Given the description of an element on the screen output the (x, y) to click on. 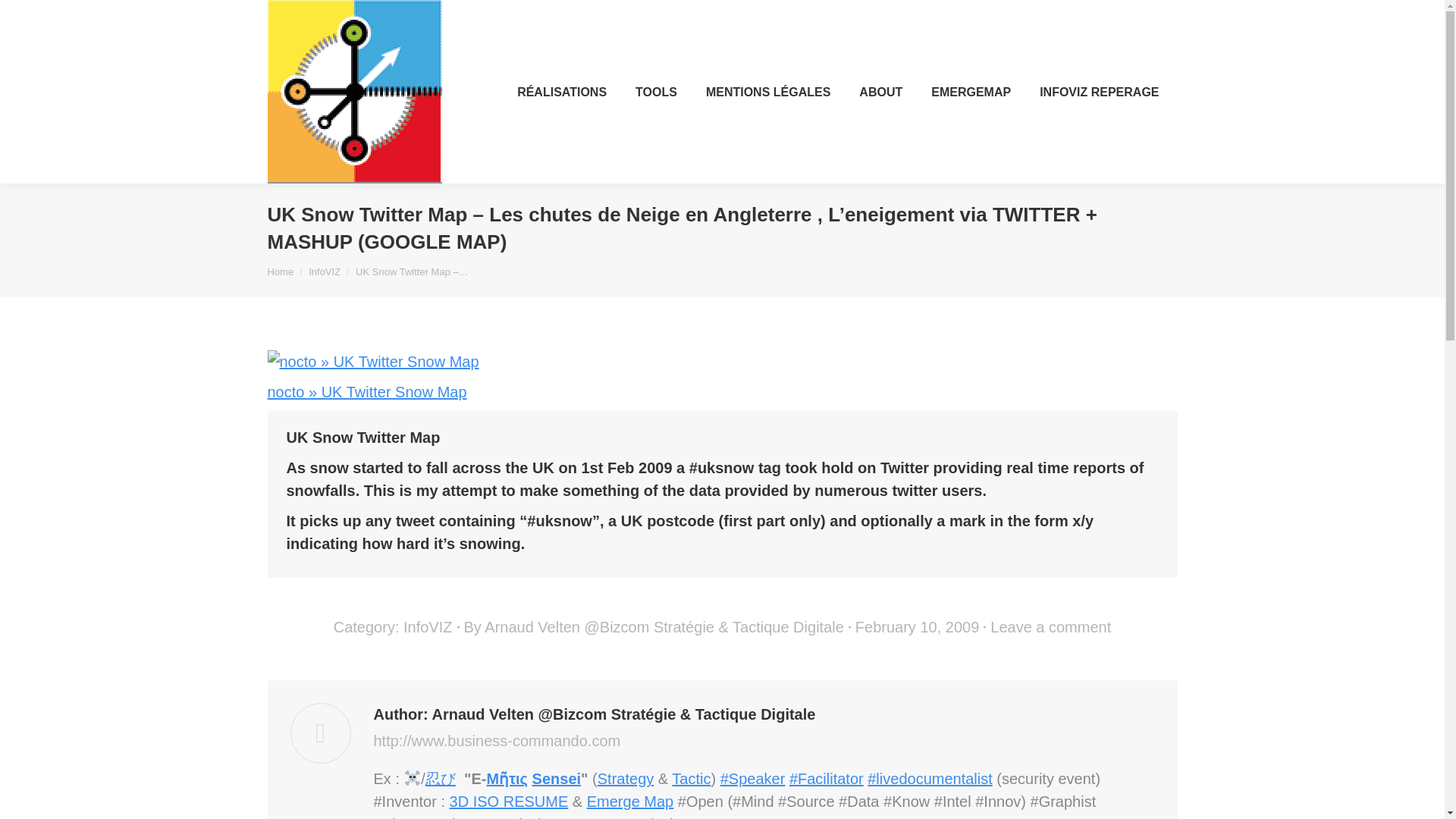
EMERGEMAP (971, 91)
TOOLS (655, 91)
9:56 pm (920, 626)
INFOVIZ REPERAGE (1099, 91)
ABOUT (880, 91)
